Given the description of an element on the screen output the (x, y) to click on. 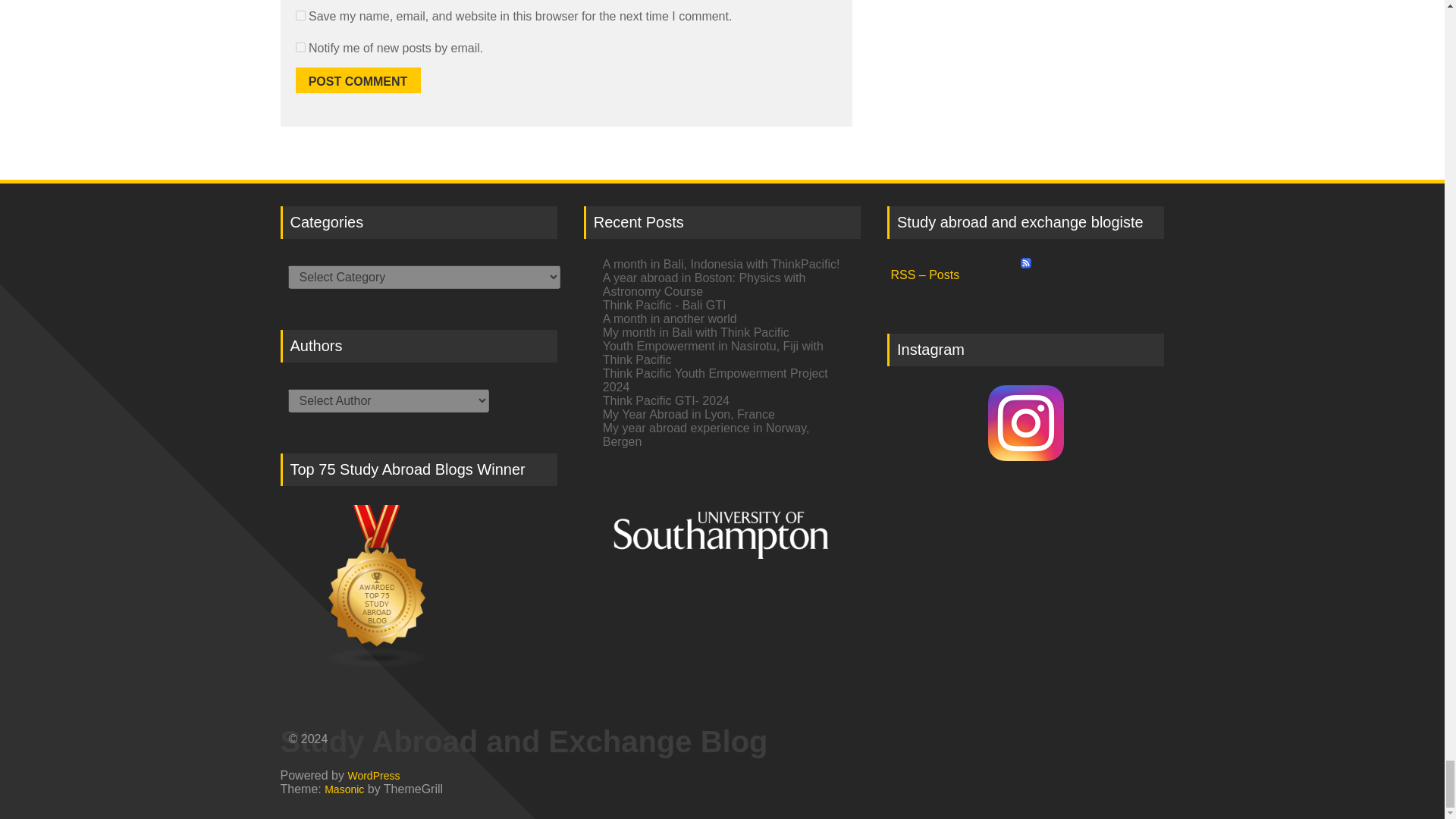
yes (300, 15)
Study Abroad Blogs (418, 587)
subscribe (300, 47)
WordPress (372, 775)
Instagram (1024, 426)
Subscribe to posts (1024, 270)
Masonic (344, 788)
Post Comment (357, 80)
